Given the description of an element on the screen output the (x, y) to click on. 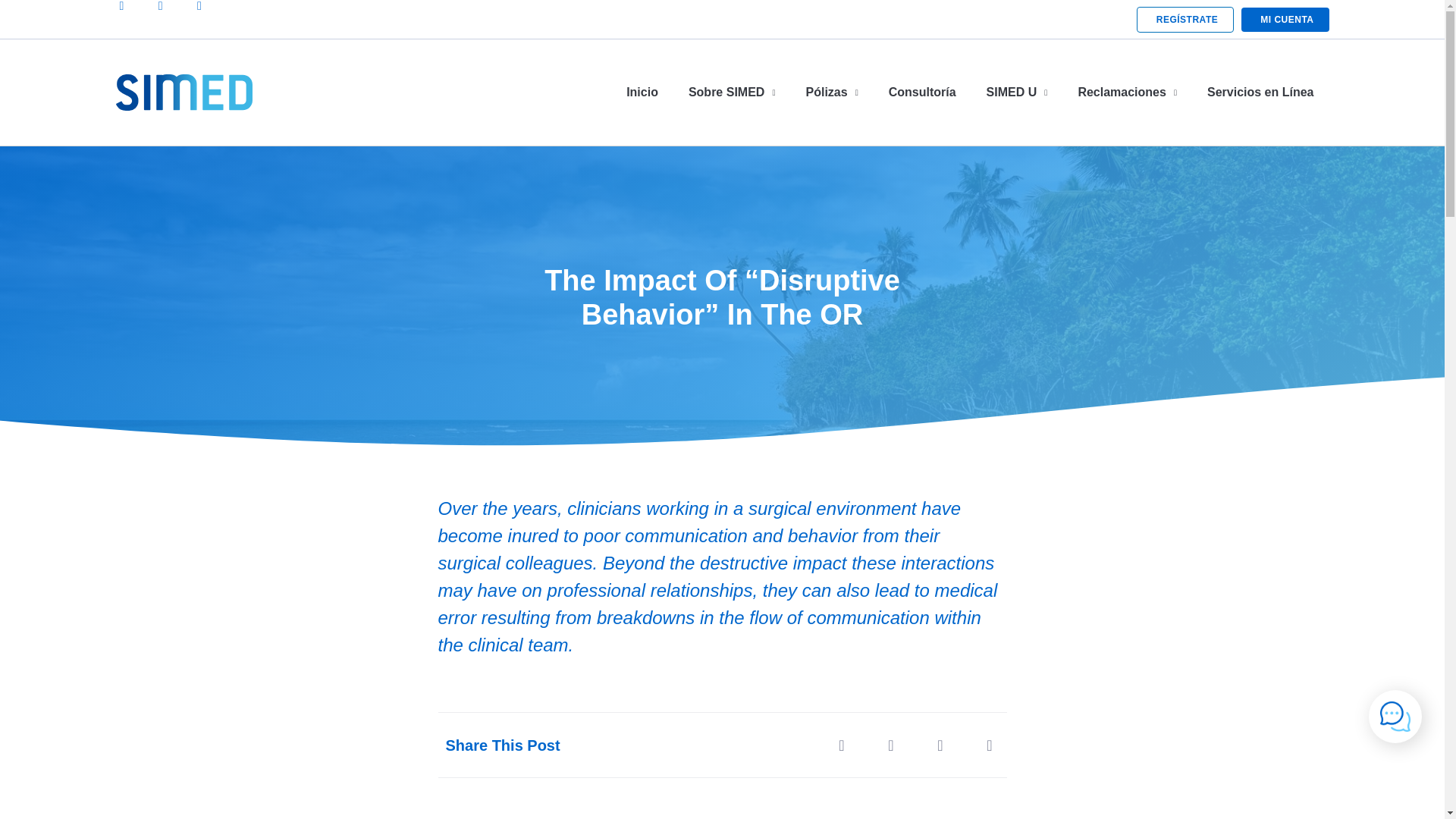
Reclamaciones (1127, 92)
MI CUENTA (1284, 19)
Sobre SIMED (731, 92)
